Given the description of an element on the screen output the (x, y) to click on. 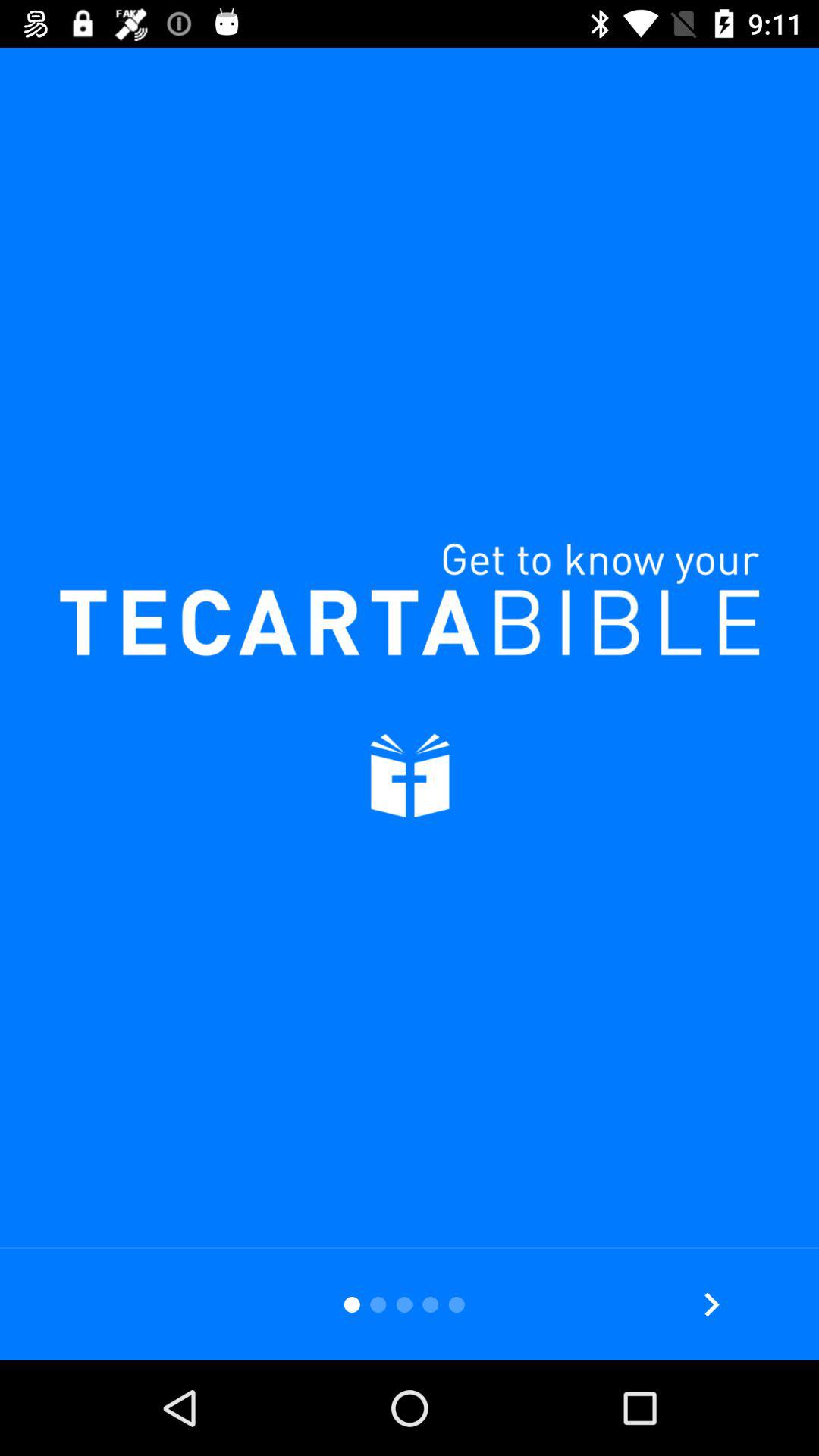
forward (711, 1304)
